Given the description of an element on the screen output the (x, y) to click on. 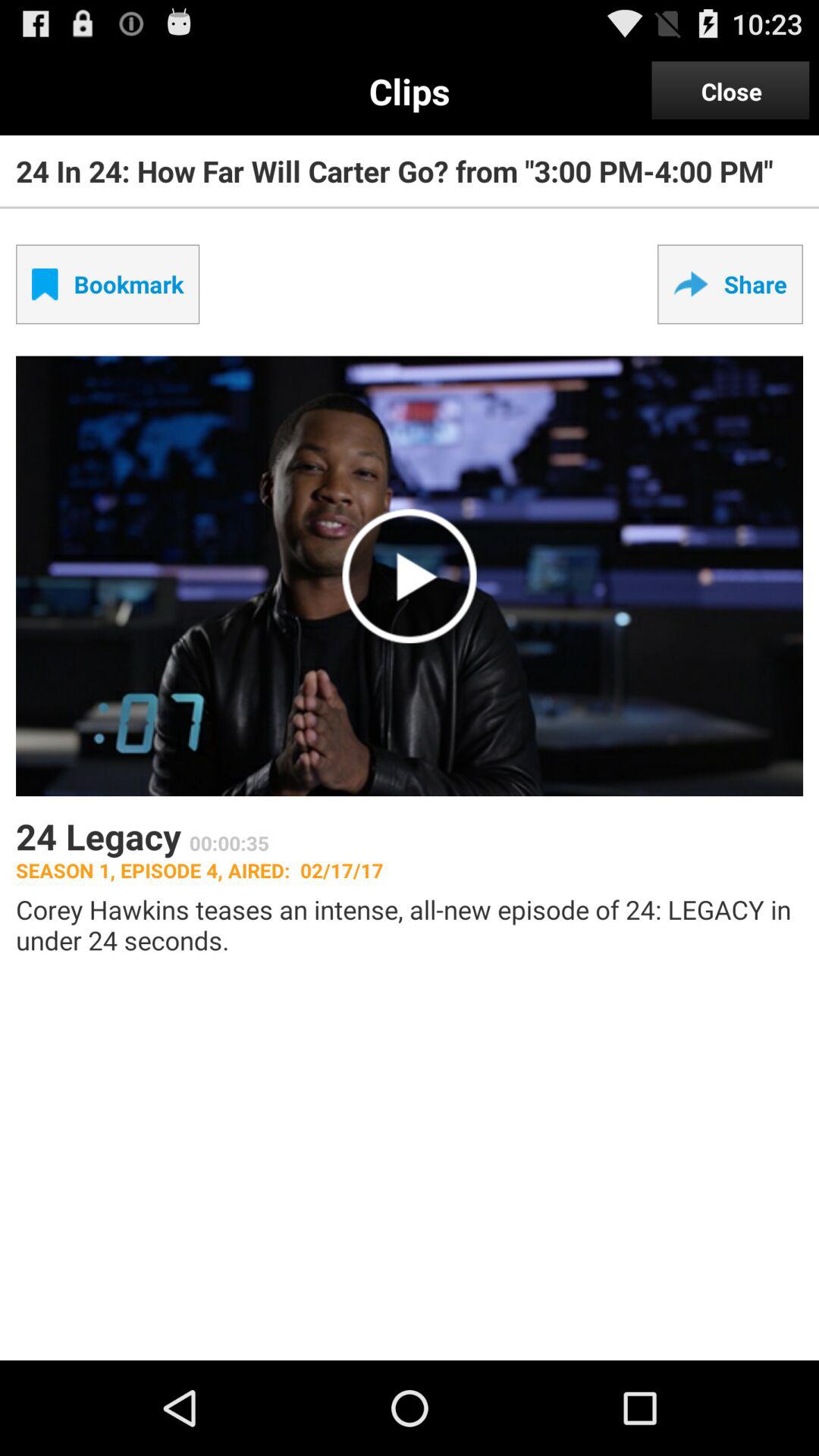
jump until the close (731, 91)
